Given the description of an element on the screen output the (x, y) to click on. 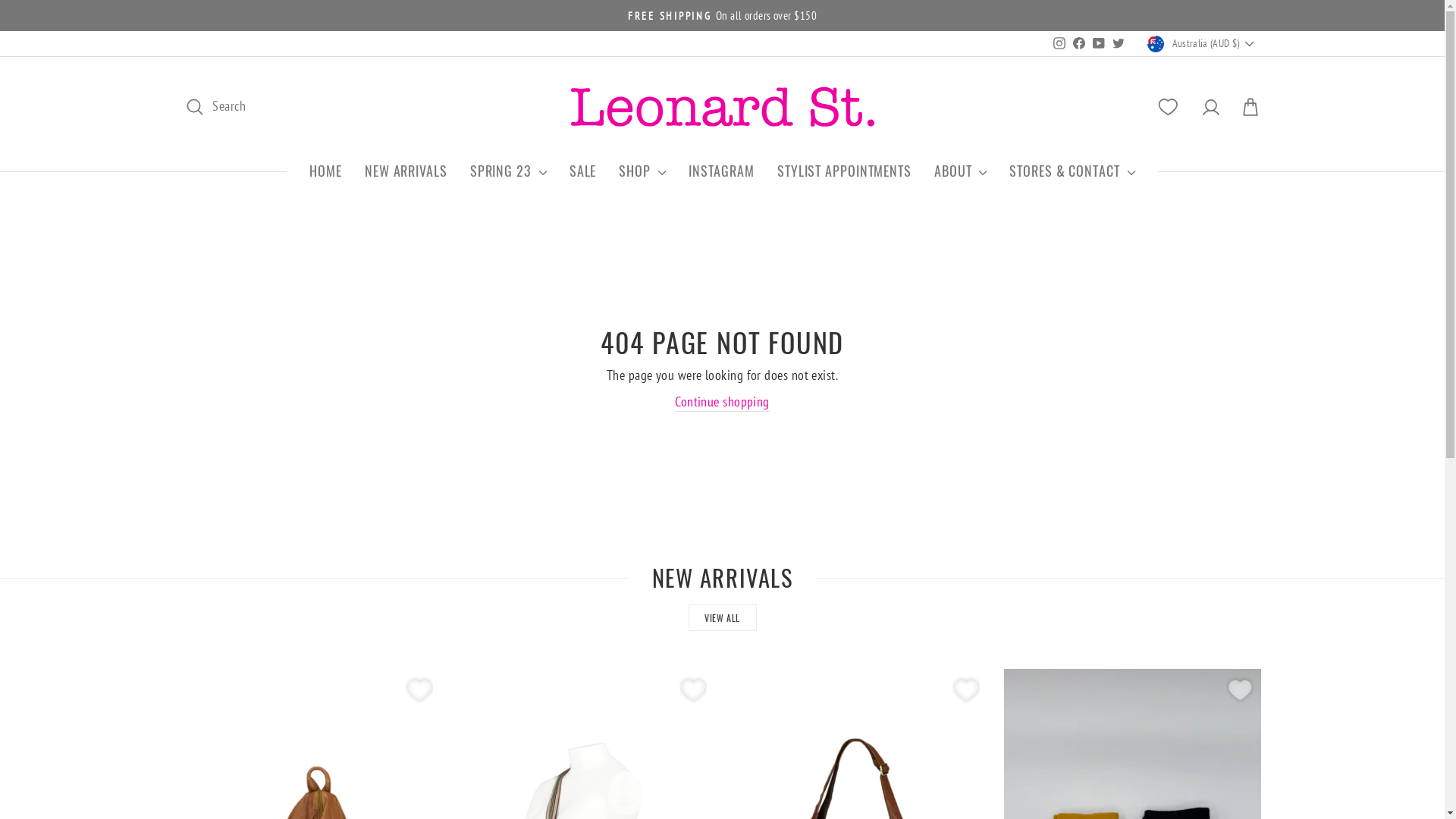
FAVOURITES Element type: text (1167, 107)
Continue shopping Element type: text (721, 401)
CART Element type: text (1249, 107)
STYLIST APPOINTMENTS Element type: text (843, 170)
SHOP Element type: text (642, 170)
LOG IN Element type: text (1210, 107)
ABOUT Element type: text (959, 170)
Favourites Element type: text (1238, 689)
Favourites Element type: text (692, 689)
INSTAGRAM Element type: text (721, 170)
HOME Element type: text (325, 170)
NEW ARRIVALS Element type: text (405, 170)
Skip to content Element type: text (0, 0)
STORES & CONTACT Element type: text (1071, 170)
Instagram Element type: text (1059, 43)
Australia (AUD $) Element type: text (1201, 43)
Facebook Element type: text (1078, 43)
SPRING 23 Element type: text (508, 170)
Leonard St Element type: hover (721, 106)
Twitter Element type: text (1118, 43)
Favourites Element type: text (419, 689)
VIEW ALL Element type: text (722, 617)
SALE Element type: text (583, 170)
YouTube Element type: text (1098, 43)
Search Element type: text (214, 107)
Favourites Element type: text (965, 689)
